Given the description of an element on the screen output the (x, y) to click on. 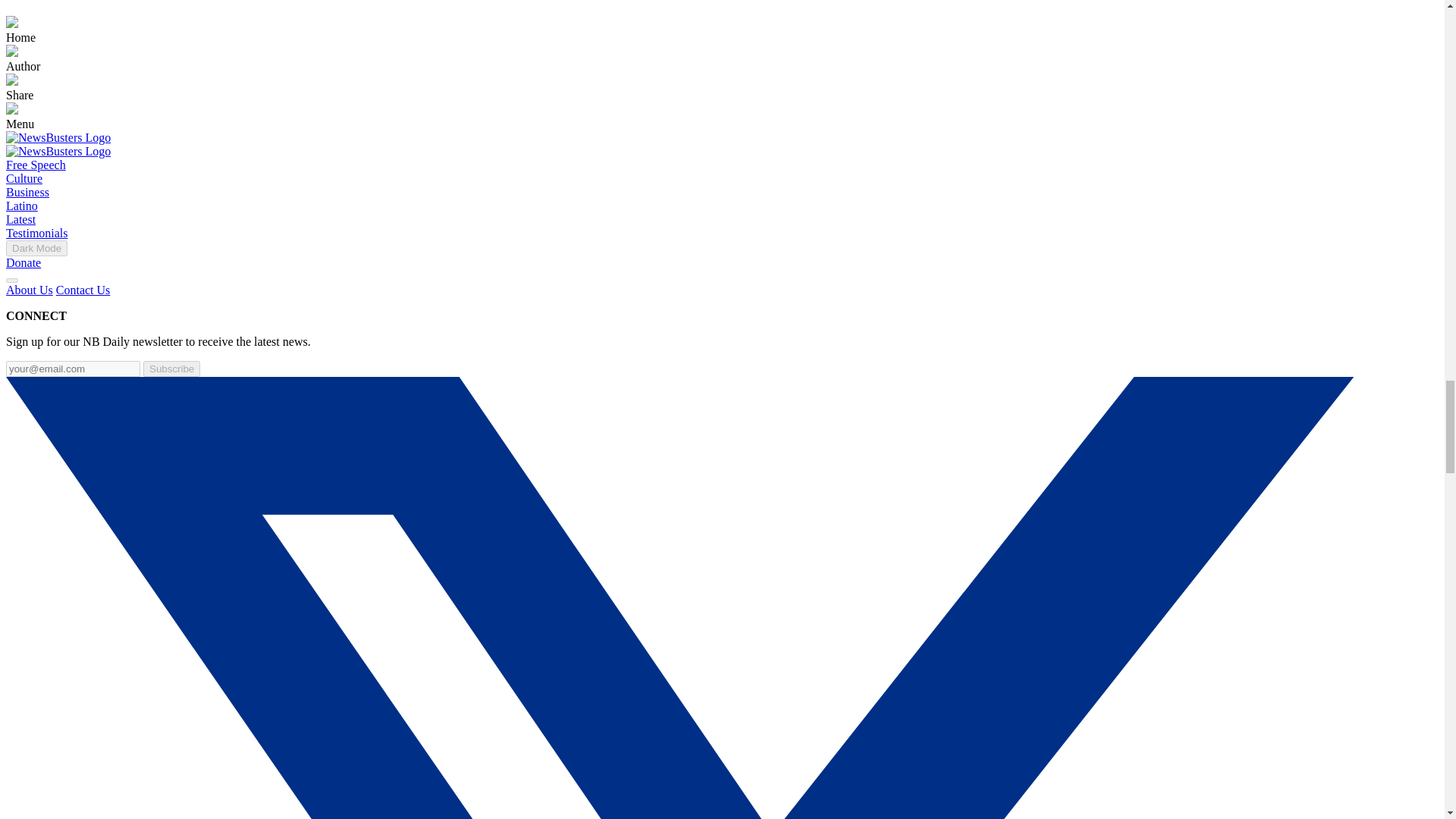
Donate (22, 262)
Testimonials (36, 232)
Dark Mode (35, 248)
